Given the description of an element on the screen output the (x, y) to click on. 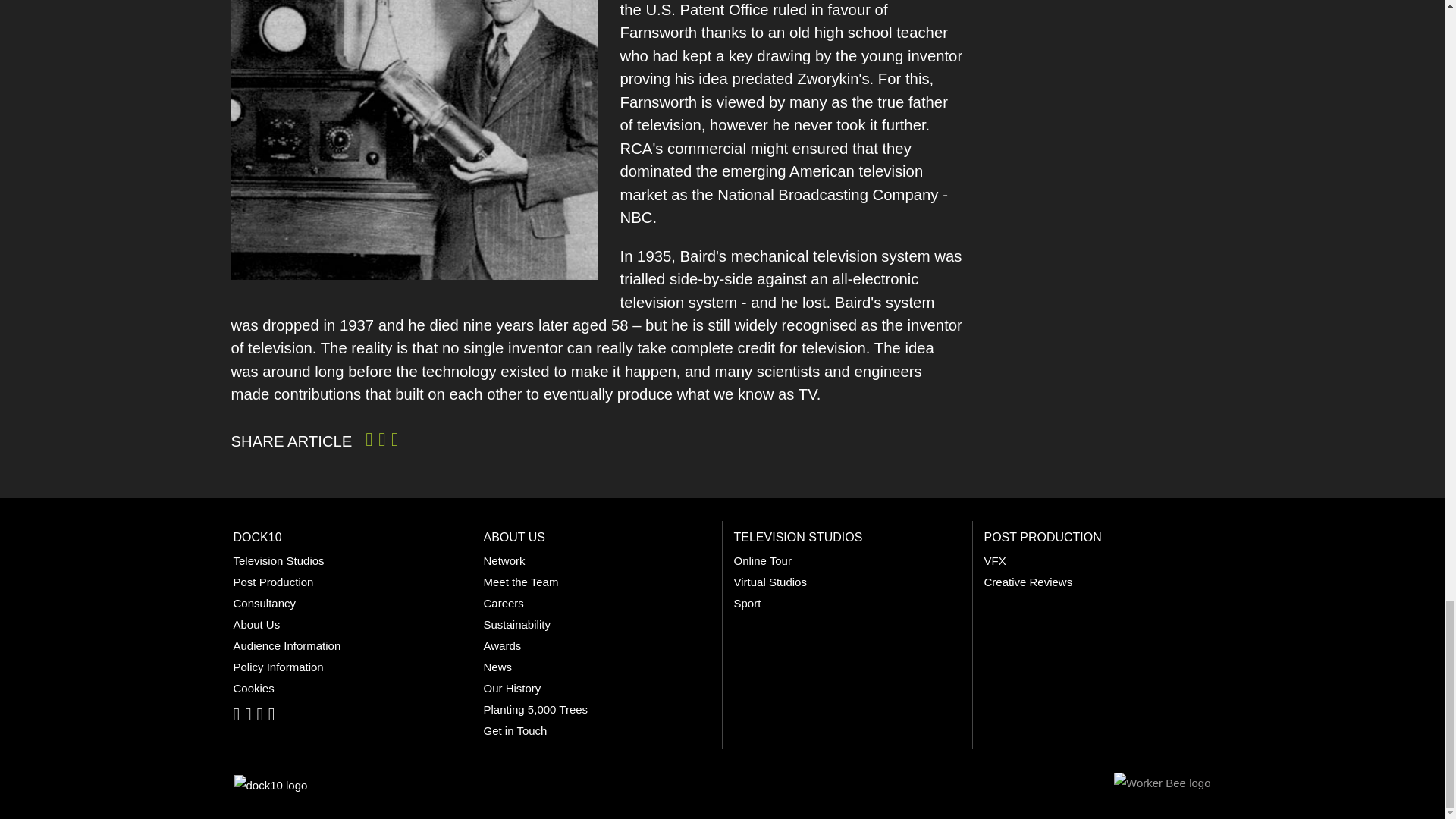
Careers (503, 603)
ABOUT US (514, 536)
Audience Information (286, 645)
Get in Touch (515, 730)
Post Production (273, 581)
Sustainability (516, 624)
Network (504, 560)
Awards (502, 645)
Television Studios (278, 560)
Consultancy (264, 603)
Planting 5,000 Trees (535, 708)
Our History (512, 687)
DOCK10 (257, 536)
News (497, 666)
Meet the Team (521, 581)
